Given the description of an element on the screen output the (x, y) to click on. 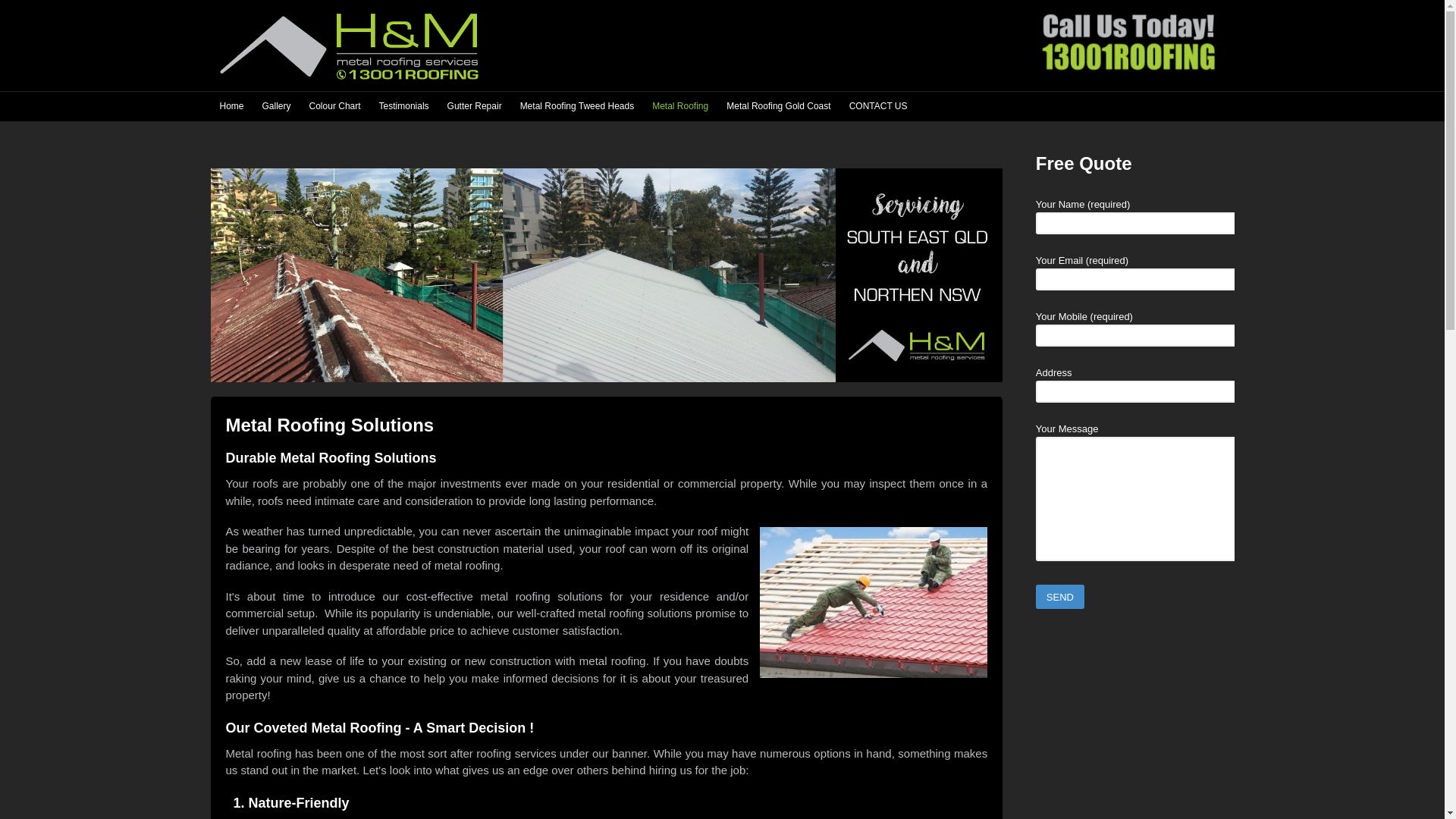
Metal Roofing Tweed Heads Element type: text (577, 105)
Send Element type: text (1059, 596)
Colour Chart Element type: text (335, 105)
CONTACT US Element type: text (878, 105)
Metal Roofing Gold Coast Element type: text (778, 105)
Home Element type: text (231, 105)
Gallery Element type: text (276, 105)
Testimonials Element type: text (404, 105)
Gutter Repair Element type: text (474, 105)
Metal Roofing Element type: text (680, 105)
